Given the description of an element on the screen output the (x, y) to click on. 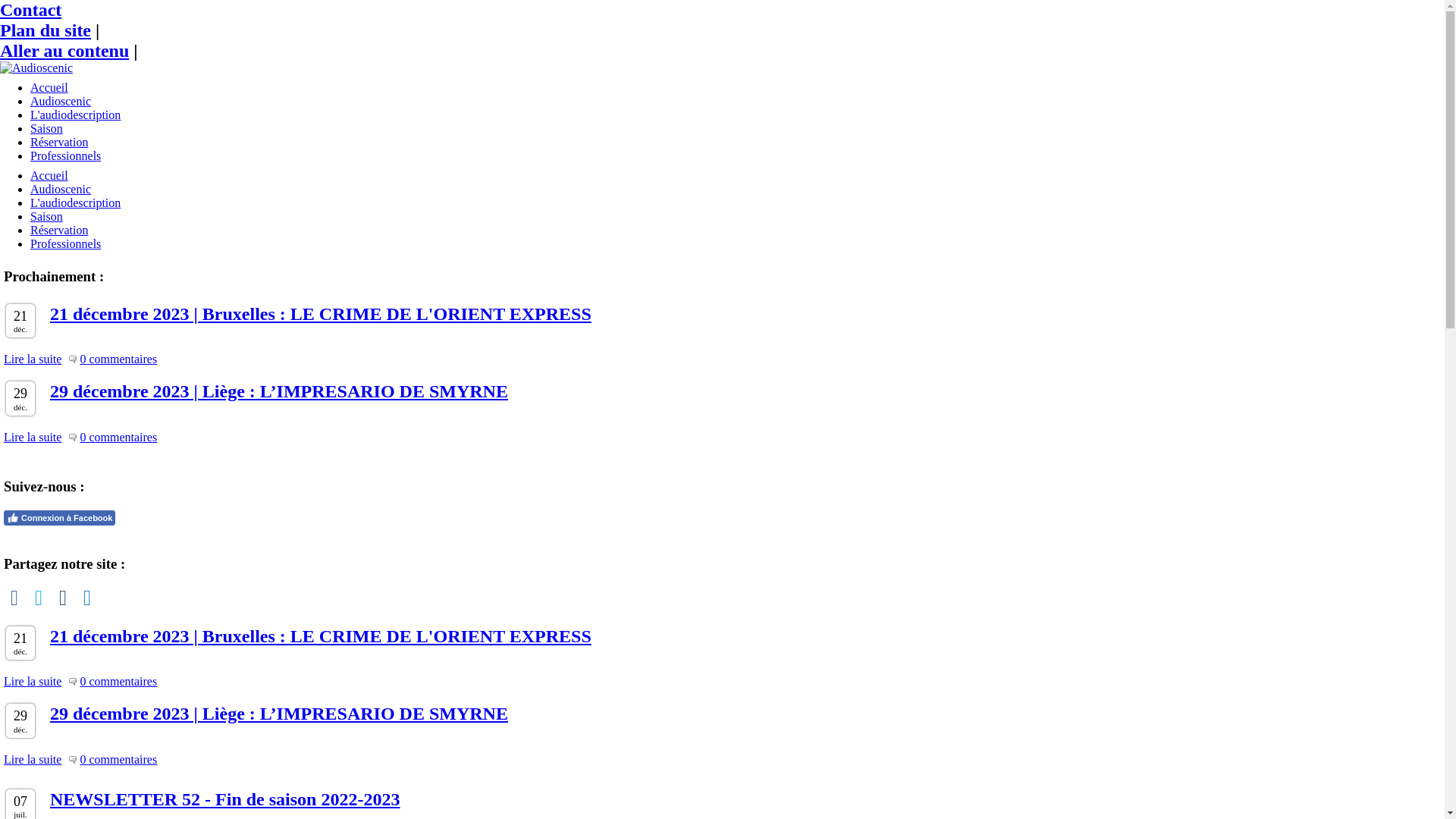
L'audiodescription Element type: text (75, 114)
Accueil Element type: text (49, 175)
Twitter Element type: hover (38, 597)
Saison Element type: text (46, 128)
Contact Element type: text (30, 9)
Professionnels Element type: text (65, 155)
Audioscenic Element type: text (60, 188)
Lire la suite Element type: text (32, 437)
Lire la suite Element type: text (32, 359)
Audioscenic Element type: text (60, 100)
Professionnels Element type: text (65, 243)
L'audiodescription Element type: text (75, 202)
Plan du site Element type: text (45, 30)
0 commentaires Element type: text (117, 759)
Facebook Element type: hover (14, 597)
NEWSLETTER 52 - Fin de saison 2022-2023 Element type: text (224, 799)
0 commentaires Element type: text (117, 680)
Saison Element type: text (46, 216)
Aller au contenu Element type: text (64, 50)
0 commentaires Element type: text (117, 358)
E-mail Element type: hover (62, 597)
Accueil Element type: text (49, 87)
Lire la suite Element type: text (32, 759)
LinkedIn Element type: hover (86, 597)
Lire la suite Element type: text (32, 681)
0 commentaires Element type: text (117, 436)
